Given the description of an element on the screen output the (x, y) to click on. 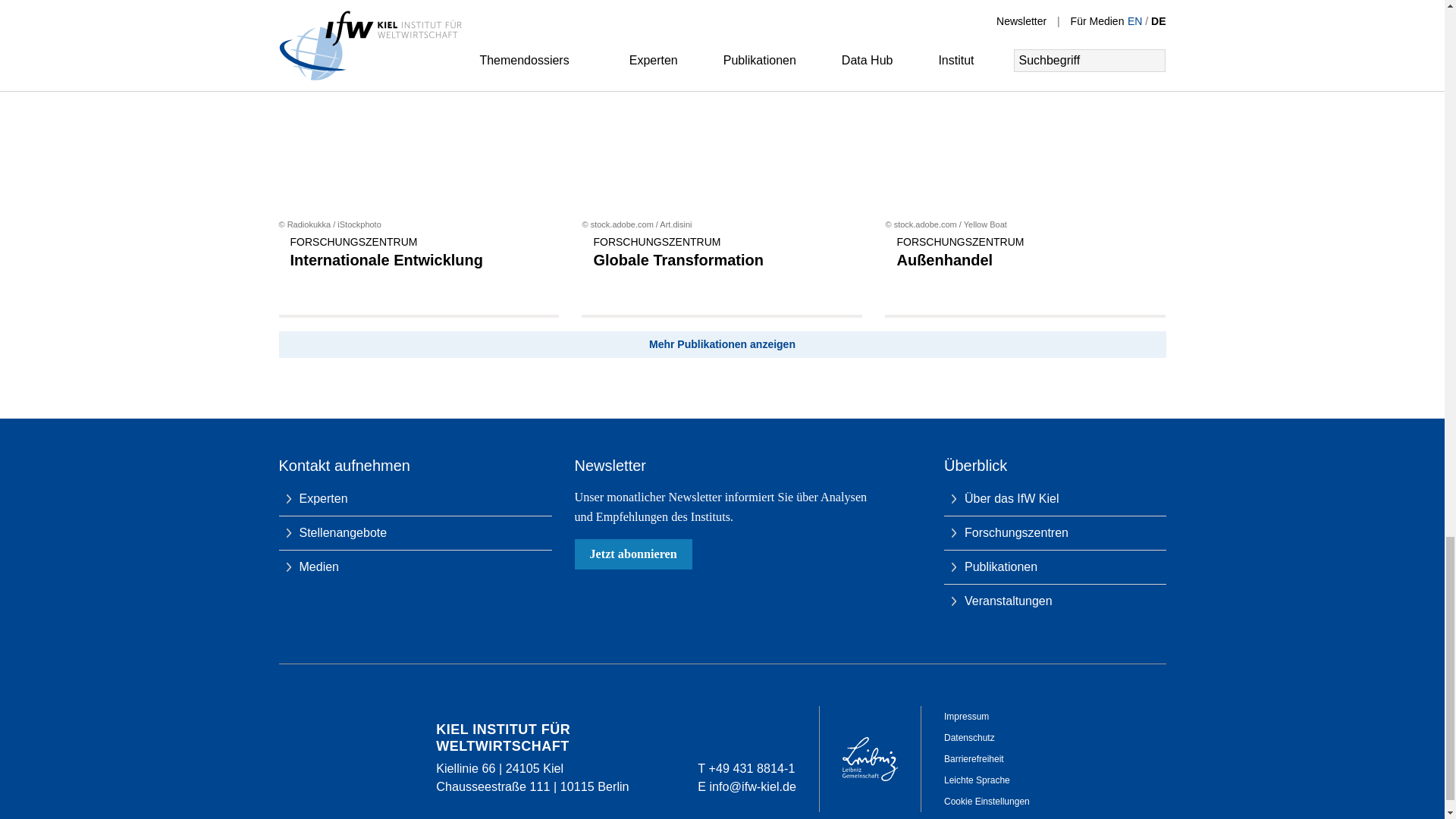
nach oben (1147, 418)
